Given the description of an element on the screen output the (x, y) to click on. 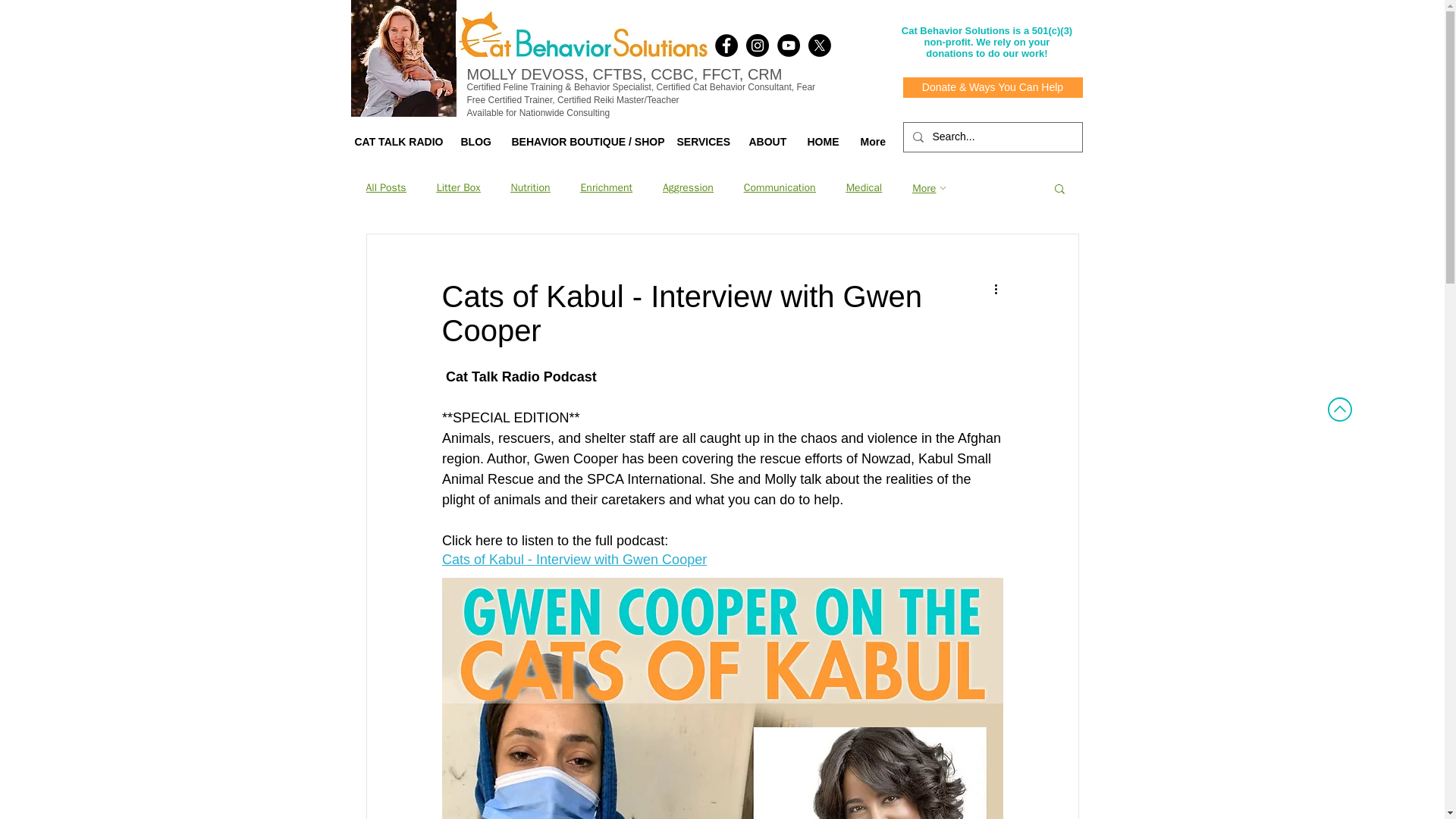
BLOG (473, 141)
HOME (822, 141)
CAT TALK RADIO (395, 141)
